Given the description of an element on the screen output the (x, y) to click on. 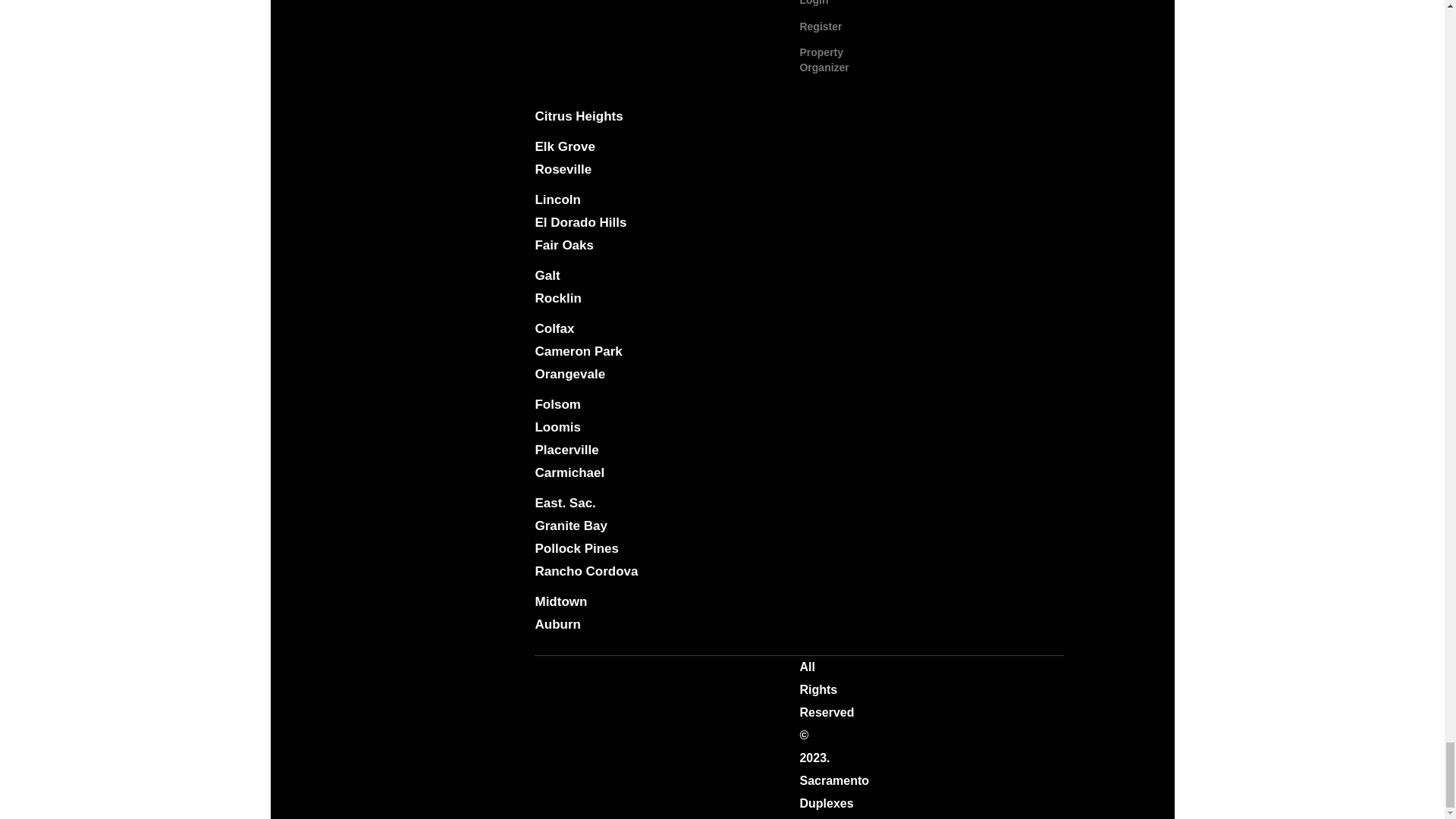
Rocklin (557, 298)
Colfax (553, 328)
Galt (546, 275)
Register (820, 26)
Citrus Heights (578, 115)
Cameron Park (577, 350)
Elk Grove (564, 146)
Login (813, 2)
Fair Oaks (564, 245)
Property Organizer (823, 59)
